Given the description of an element on the screen output the (x, y) to click on. 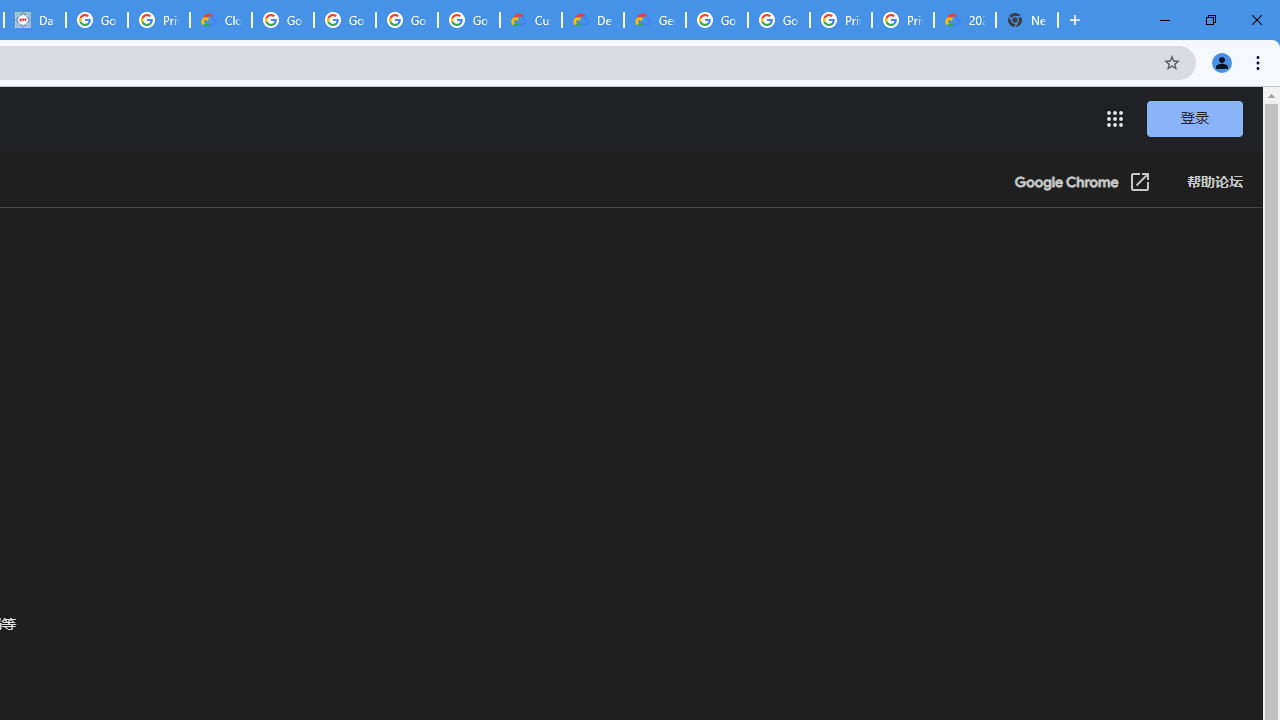
Close (1256, 20)
Restore (1210, 20)
Cloud Data Processing Addendum | Google Cloud (220, 20)
Google Workspace - Specific Terms (406, 20)
Google Workspace - Specific Terms (468, 20)
Minimize (1165, 20)
Customer Care | Google Cloud (530, 20)
